Given the description of an element on the screen output the (x, y) to click on. 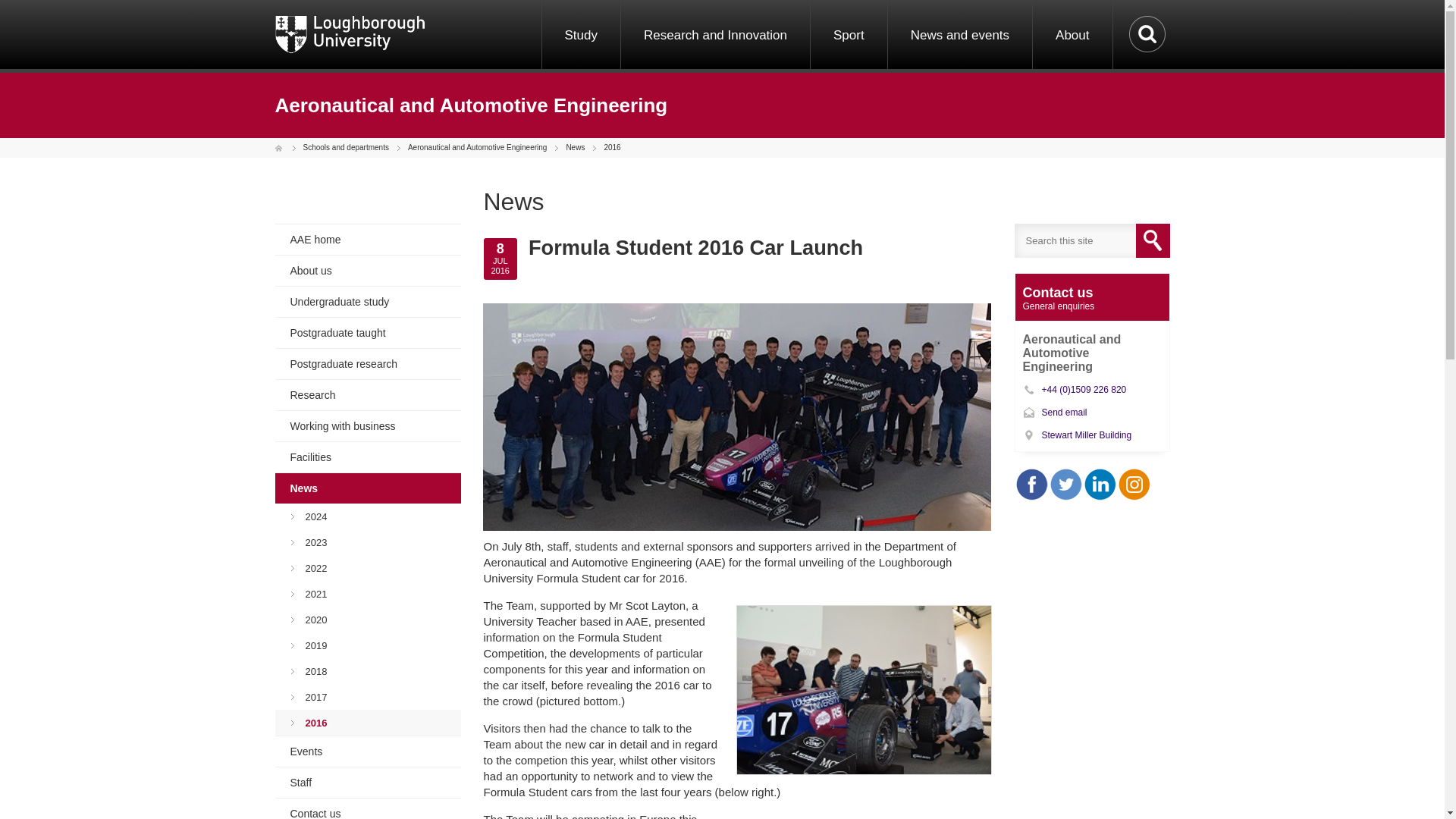
2023 (367, 542)
Study (580, 36)
2022 (367, 568)
Postgraduate taught (367, 332)
Sport (847, 36)
News (573, 148)
News and events (959, 36)
2019 (367, 645)
Research and Innovation (714, 36)
Schools and departments (343, 148)
